Given the description of an element on the screen output the (x, y) to click on. 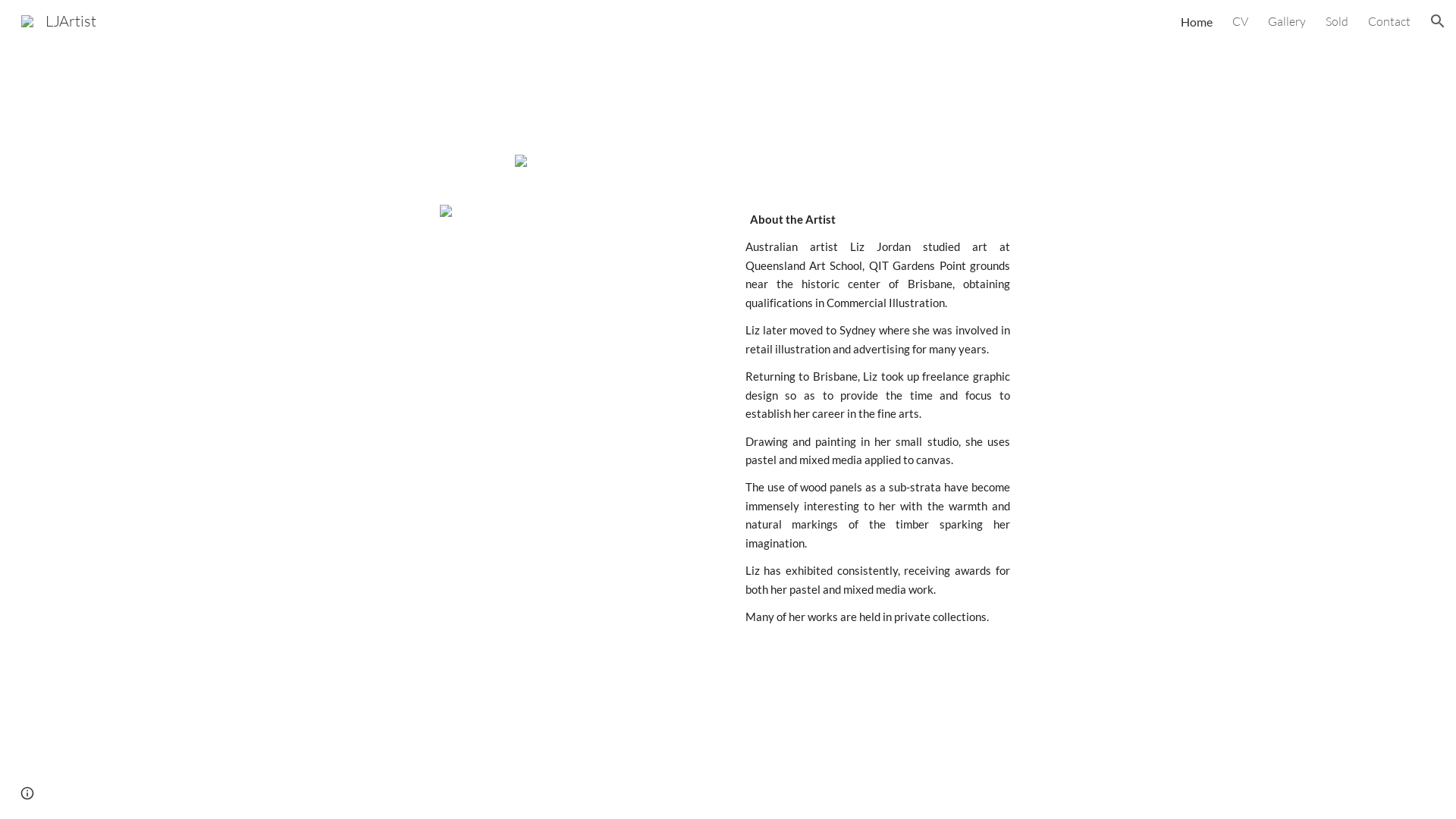
CV Element type: text (1240, 20)
Home Element type: text (1196, 20)
Sold Element type: text (1336, 20)
LJArtist Element type: text (58, 18)
Gallery Element type: text (1286, 20)
Contact Element type: text (1389, 20)
